Given the description of an element on the screen output the (x, y) to click on. 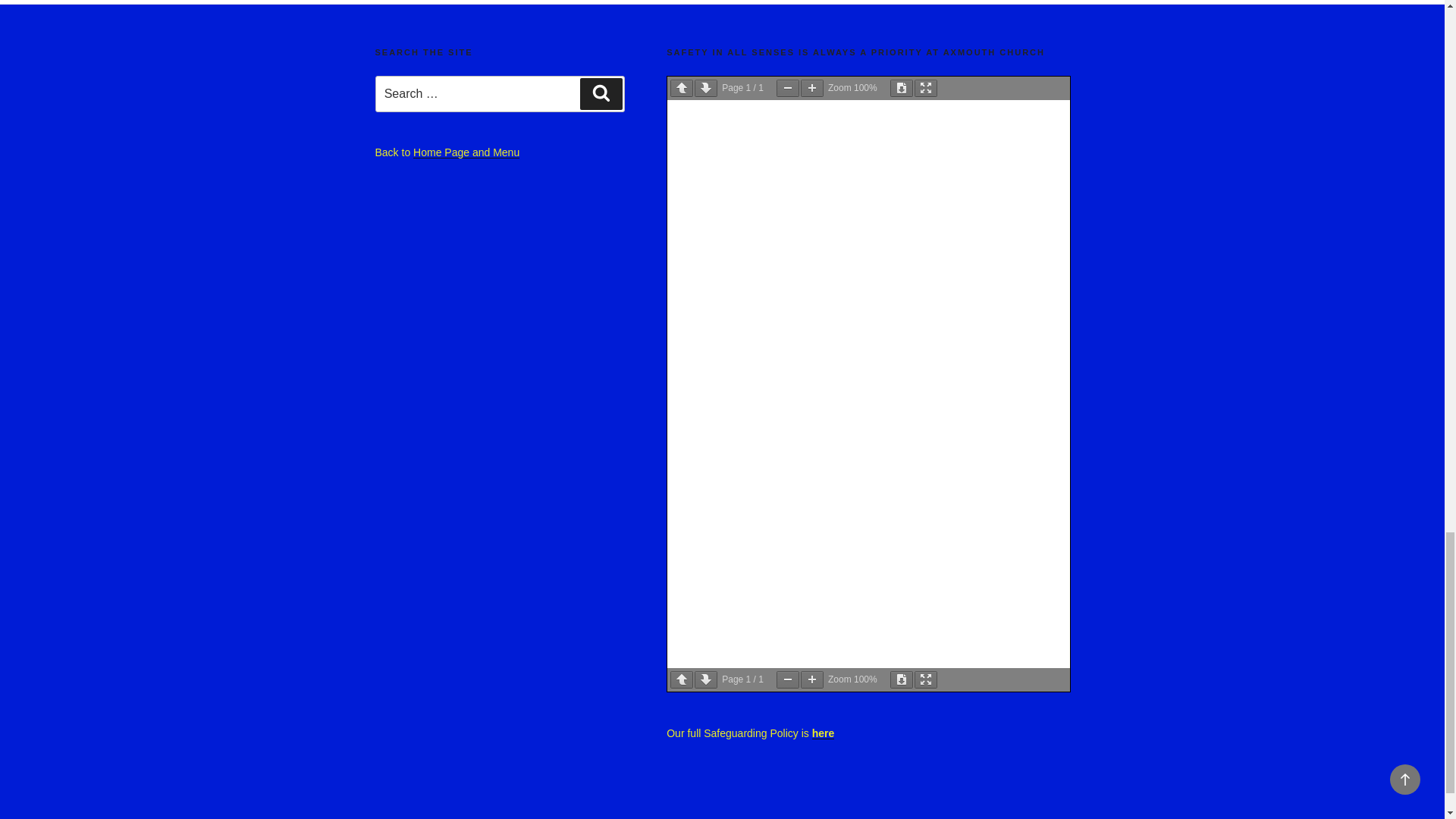
Next page (705, 679)
Zoom Out (787, 88)
Full Screen (925, 88)
Previous page (681, 679)
Next page (705, 88)
Zoom In (812, 88)
Previous page (681, 88)
Zoom Out (787, 679)
Download PDF (900, 88)
